Given the description of an element on the screen output the (x, y) to click on. 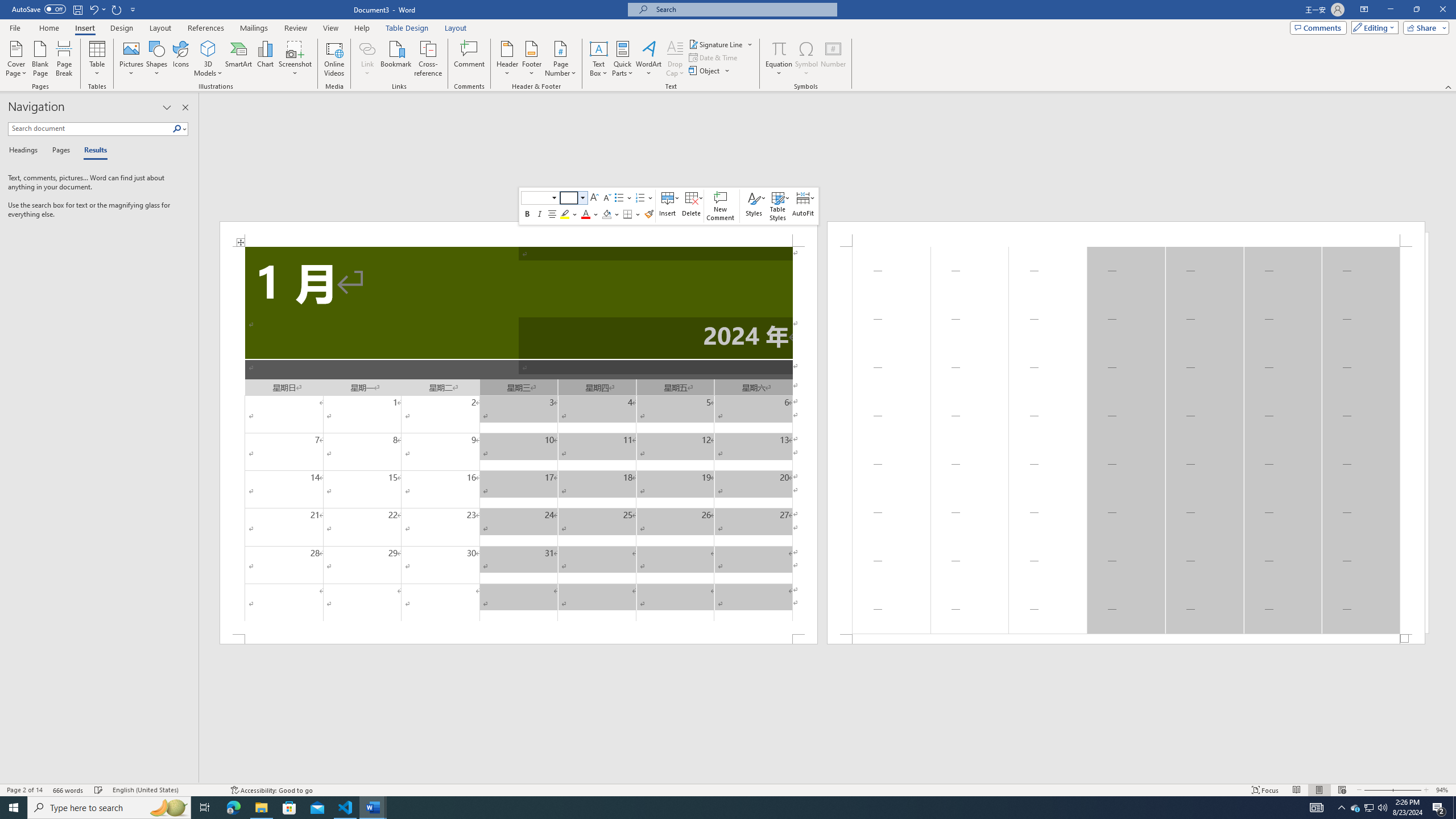
Cover Page (16, 58)
Page 2 content (1126, 439)
Shapes (156, 58)
Date & Time... (714, 56)
Page 1 content (518, 439)
Microsoft Edge (233, 807)
Word - 2 running windows (373, 807)
